Given the description of an element on the screen output the (x, y) to click on. 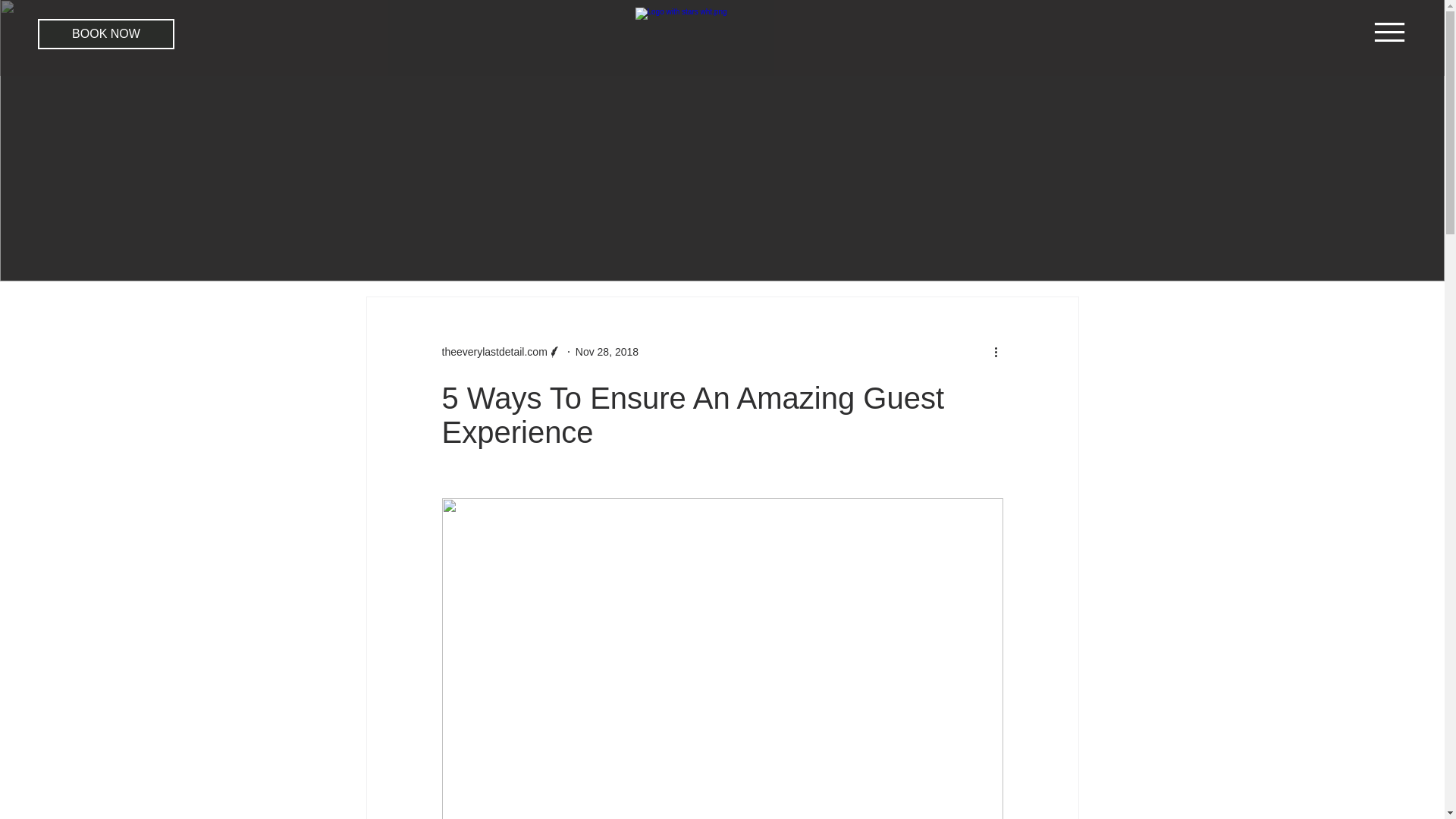
Nov 28, 2018 (607, 351)
BOOK NOW (105, 33)
theeverylastdetail.com (494, 351)
